Given the description of an element on the screen output the (x, y) to click on. 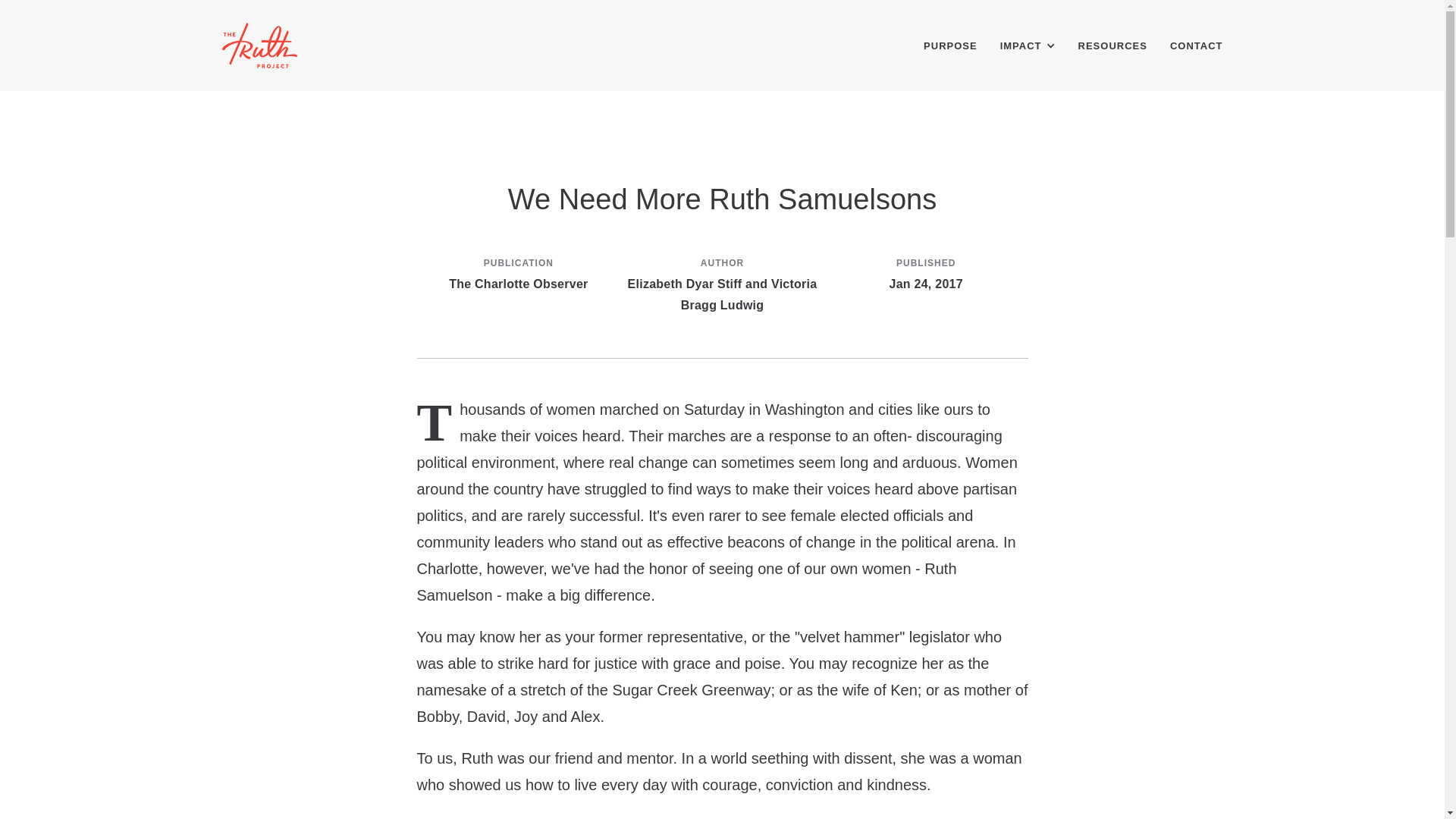
RESOURCES (1112, 45)
PURPOSE (949, 45)
CONTACT (1196, 45)
